Given the description of an element on the screen output the (x, y) to click on. 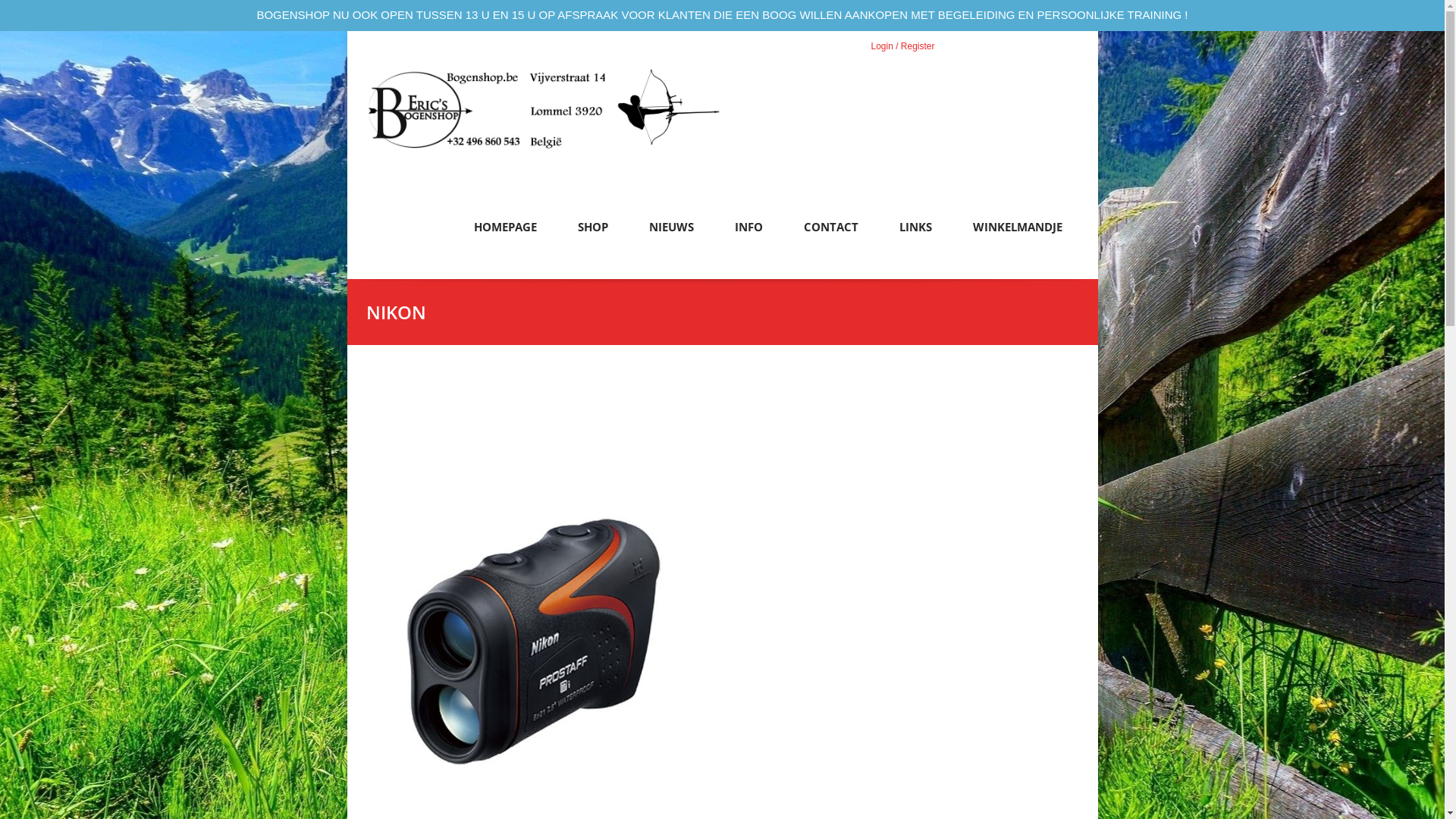
Login / Register Element type: text (902, 45)
INFO Element type: text (747, 234)
HOMEPAGE Element type: text (504, 234)
SHOP Element type: text (592, 234)
LINKS Element type: text (915, 234)
NIEUWS Element type: text (671, 234)
WINKELMANDJE Element type: text (1016, 234)
CONTACT Element type: text (831, 234)
